Given the description of an element on the screen output the (x, y) to click on. 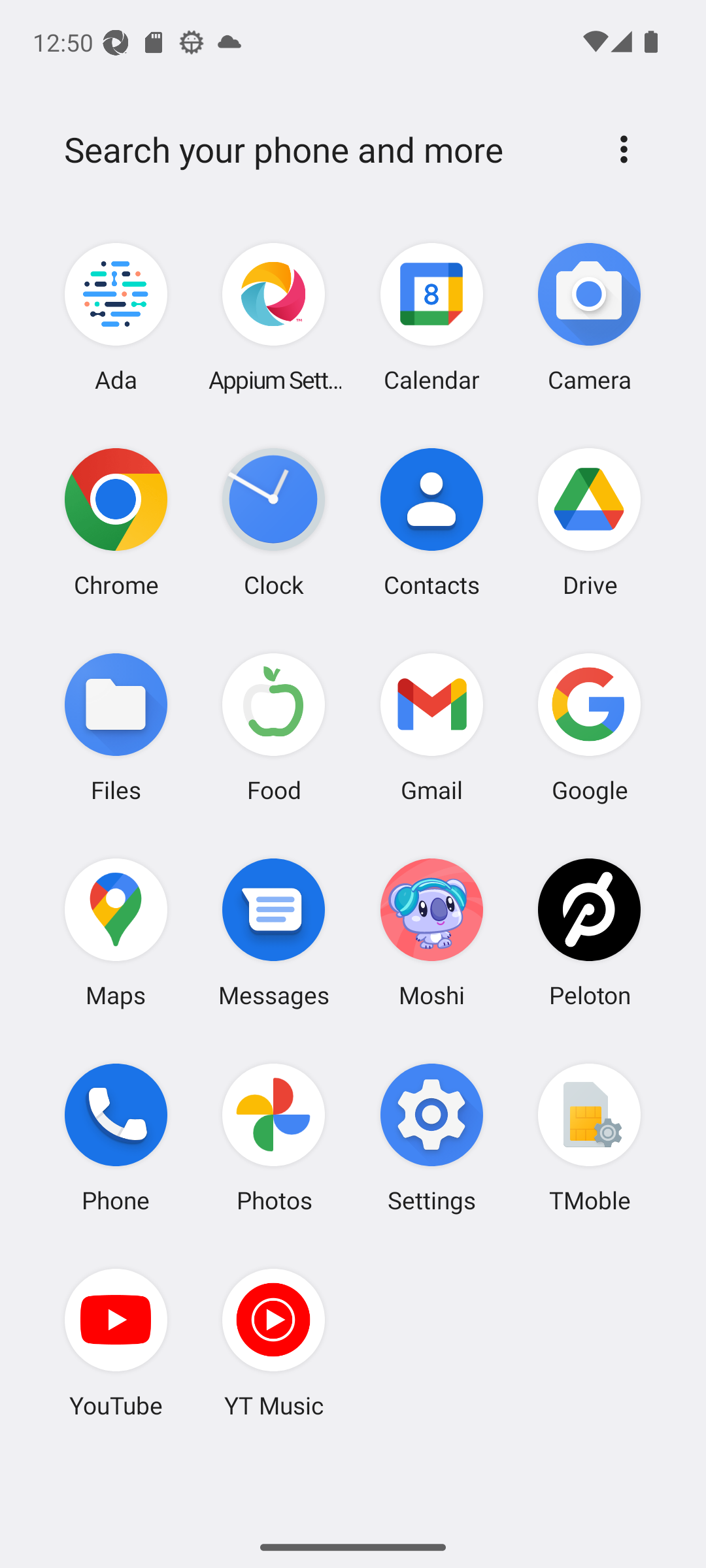
Search your phone and more (321, 149)
Preferences (623, 149)
Ada (115, 317)
Appium Settings (273, 317)
Calendar (431, 317)
Camera (589, 317)
Chrome (115, 522)
Clock (273, 522)
Contacts (431, 522)
Drive (589, 522)
Files (115, 726)
Food (273, 726)
Gmail (431, 726)
Google (589, 726)
Maps (115, 931)
Messages (273, 931)
Moshi (431, 931)
Peloton (589, 931)
Phone (115, 1137)
Photos (273, 1137)
Settings (431, 1137)
TMoble (589, 1137)
YouTube (115, 1342)
YT Music (273, 1342)
